Given the description of an element on the screen output the (x, y) to click on. 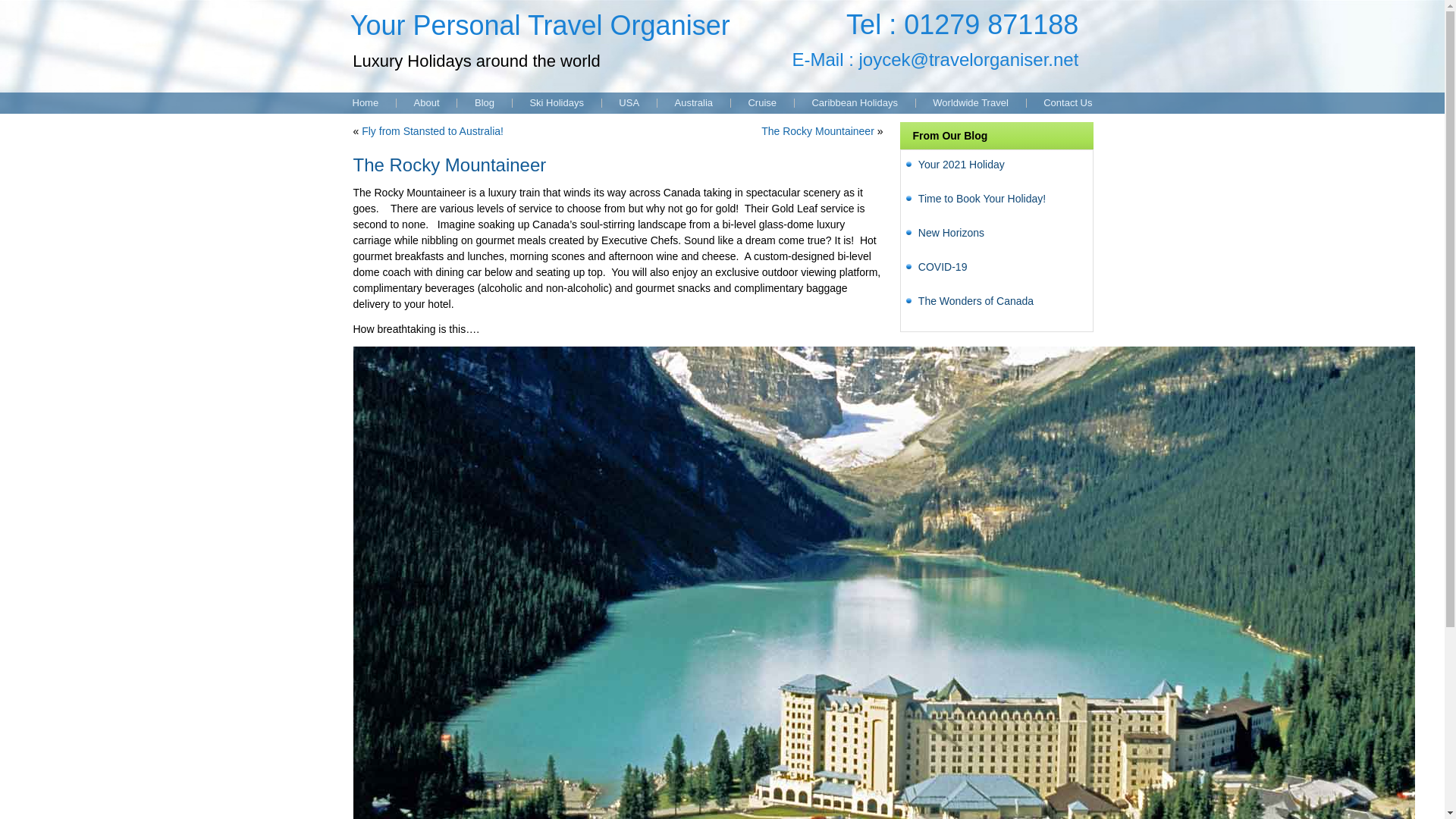
New Horizons (951, 232)
Home (364, 102)
Worldwide Travel (969, 102)
Worldwide Travel (969, 102)
The Wonders of Canada (975, 300)
Ski Holidays (555, 102)
Caribbean Holidays (853, 102)
Australia (693, 102)
Caribbean Holidays (853, 102)
Home (364, 102)
The Rocky Mountaineer (818, 131)
Fly from Stansted to Australia! (432, 131)
Australia (693, 102)
The Rocky Mountaineer (818, 131)
Ski Holidays (555, 102)
